Given the description of an element on the screen output the (x, y) to click on. 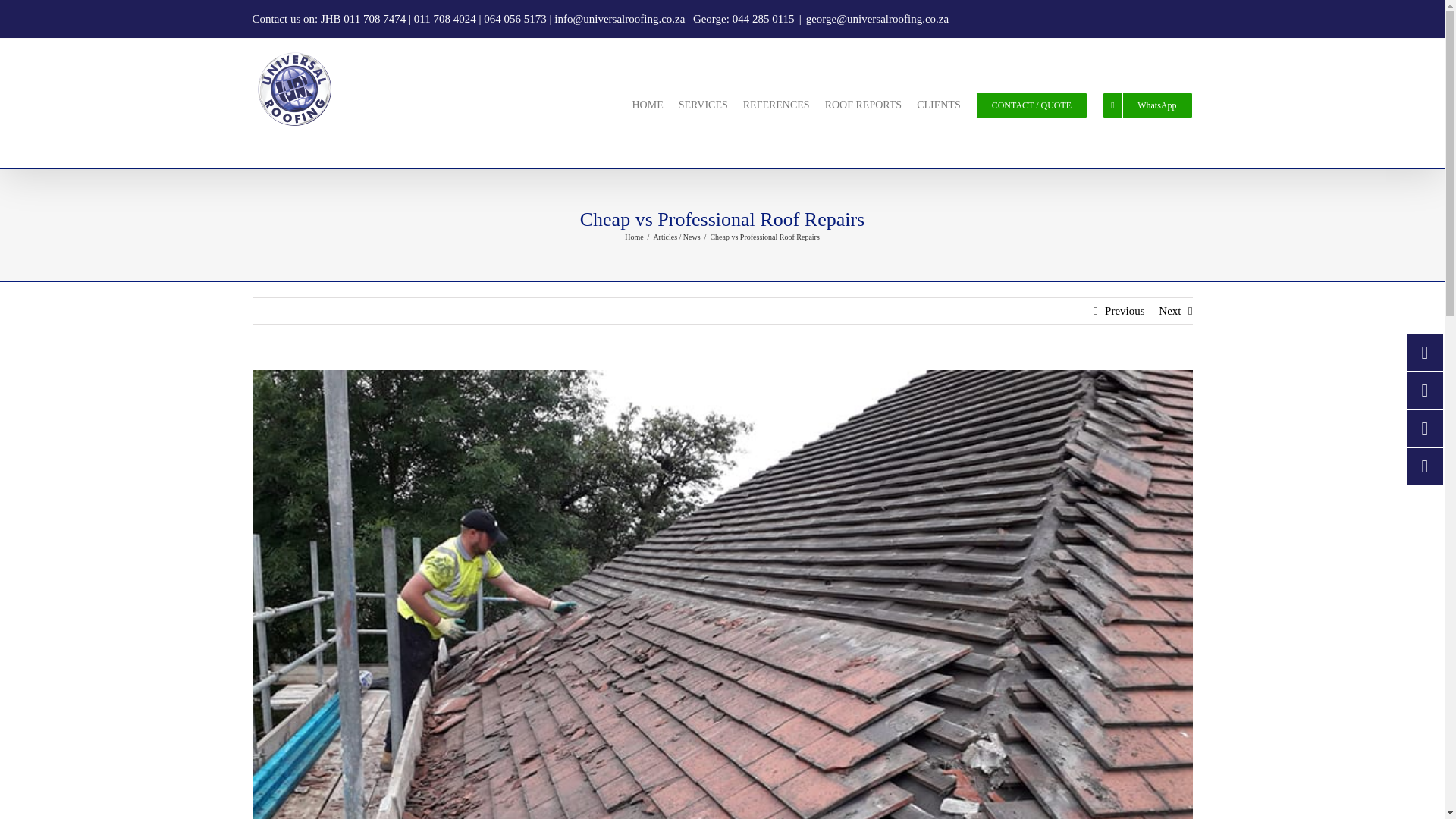
044 285 0115 (763, 19)
011 708 4024 (444, 19)
LiveChat chat widget (106, 795)
064 056 5173 (515, 19)
011 708 7474 (374, 19)
